Given the description of an element on the screen output the (x, y) to click on. 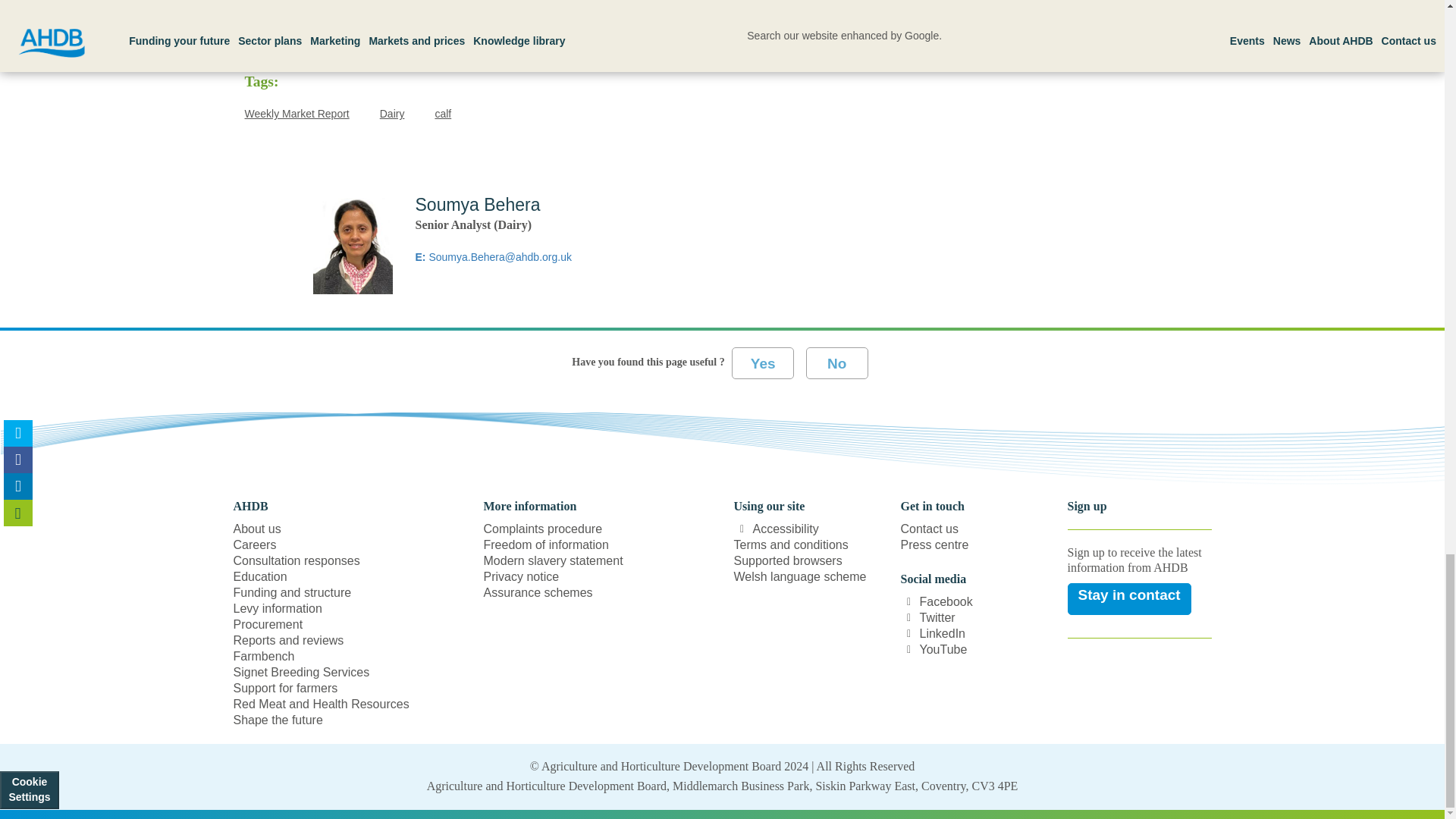
Yes (762, 363)
No (836, 363)
